Given the description of an element on the screen output the (x, y) to click on. 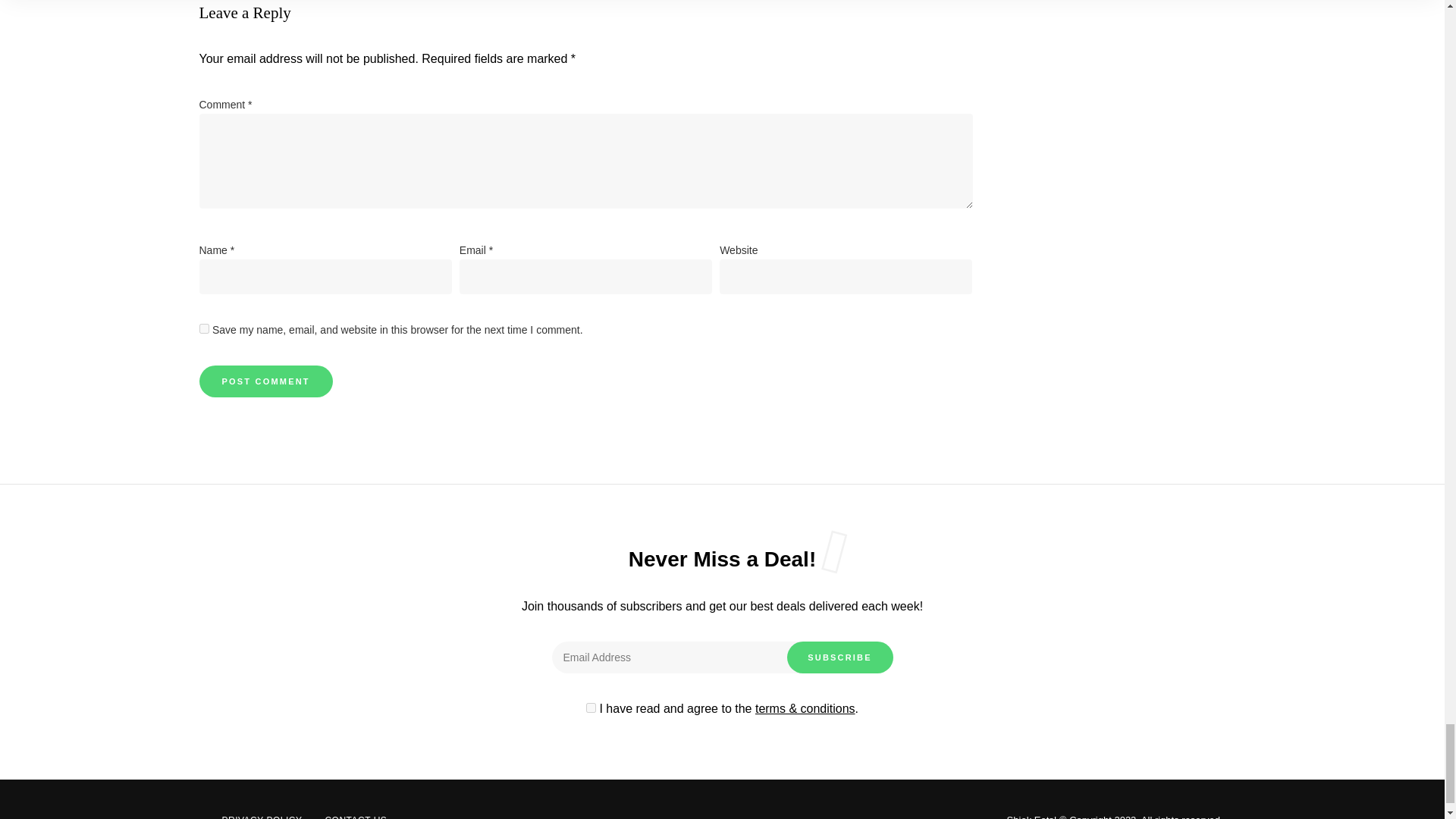
Post Comment (264, 381)
yes (203, 328)
Subscribe (840, 657)
1 (590, 707)
